Given the description of an element on the screen output the (x, y) to click on. 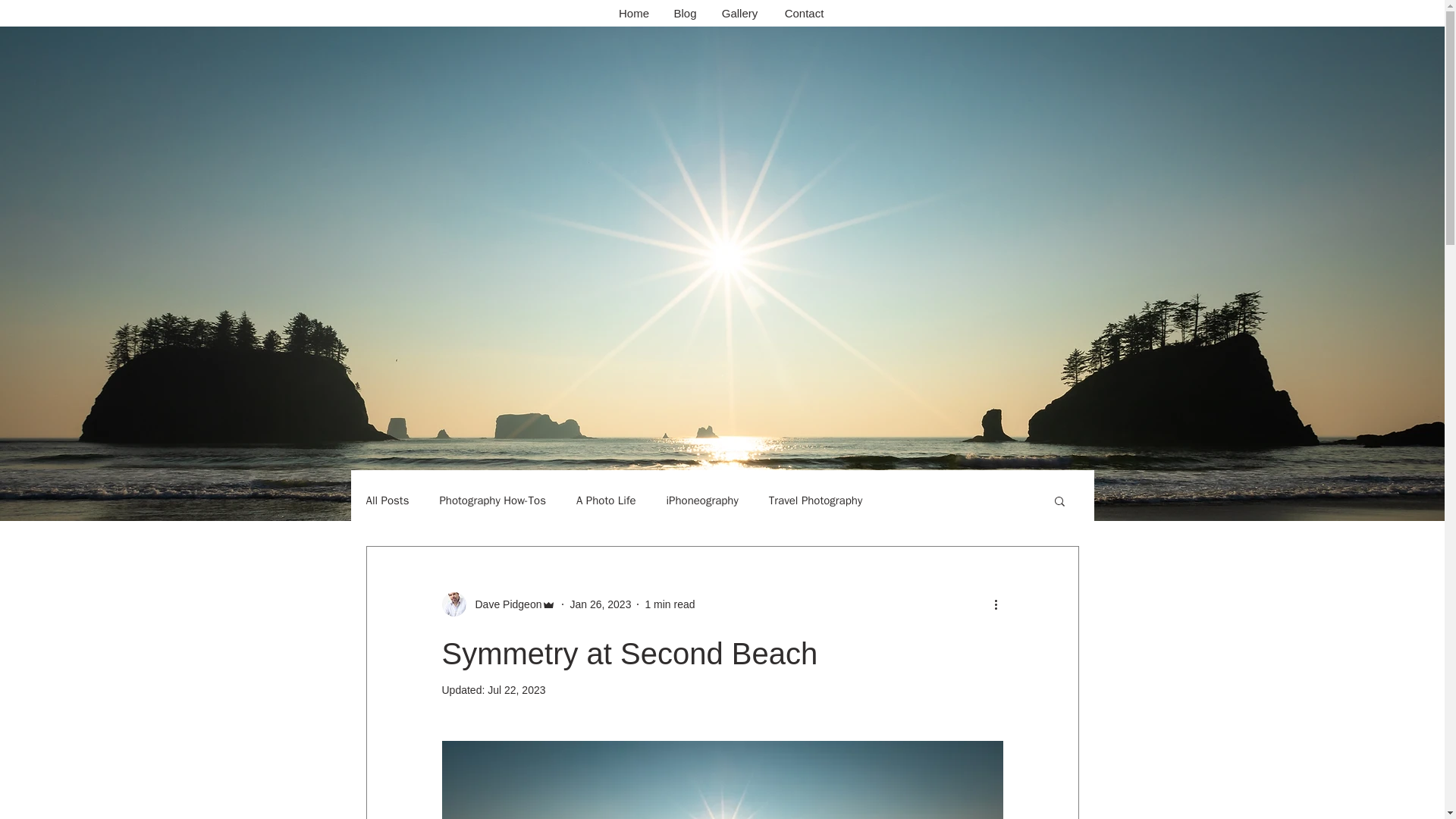
Blog (684, 13)
A Photo Life (606, 499)
Home (634, 13)
Dave Pidgeon (503, 603)
Jan 26, 2023 (599, 603)
1 min read (669, 603)
Jul 22, 2023 (515, 689)
All Posts (387, 499)
Travel Photography (814, 499)
iPhoneography (701, 499)
